Given the description of an element on the screen output the (x, y) to click on. 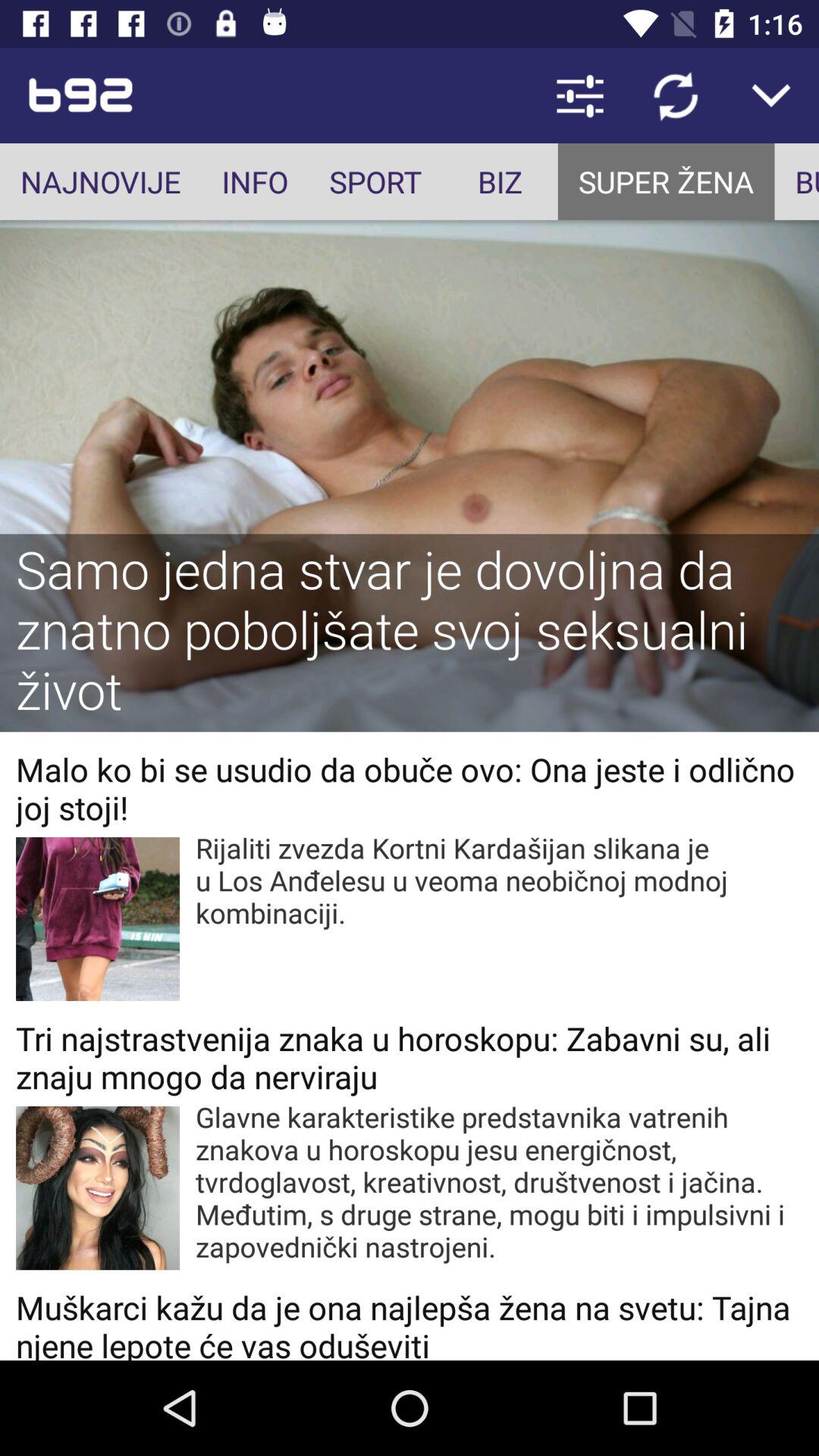
choose icon to the left of   biz   icon (375, 181)
